Given the description of an element on the screen output the (x, y) to click on. 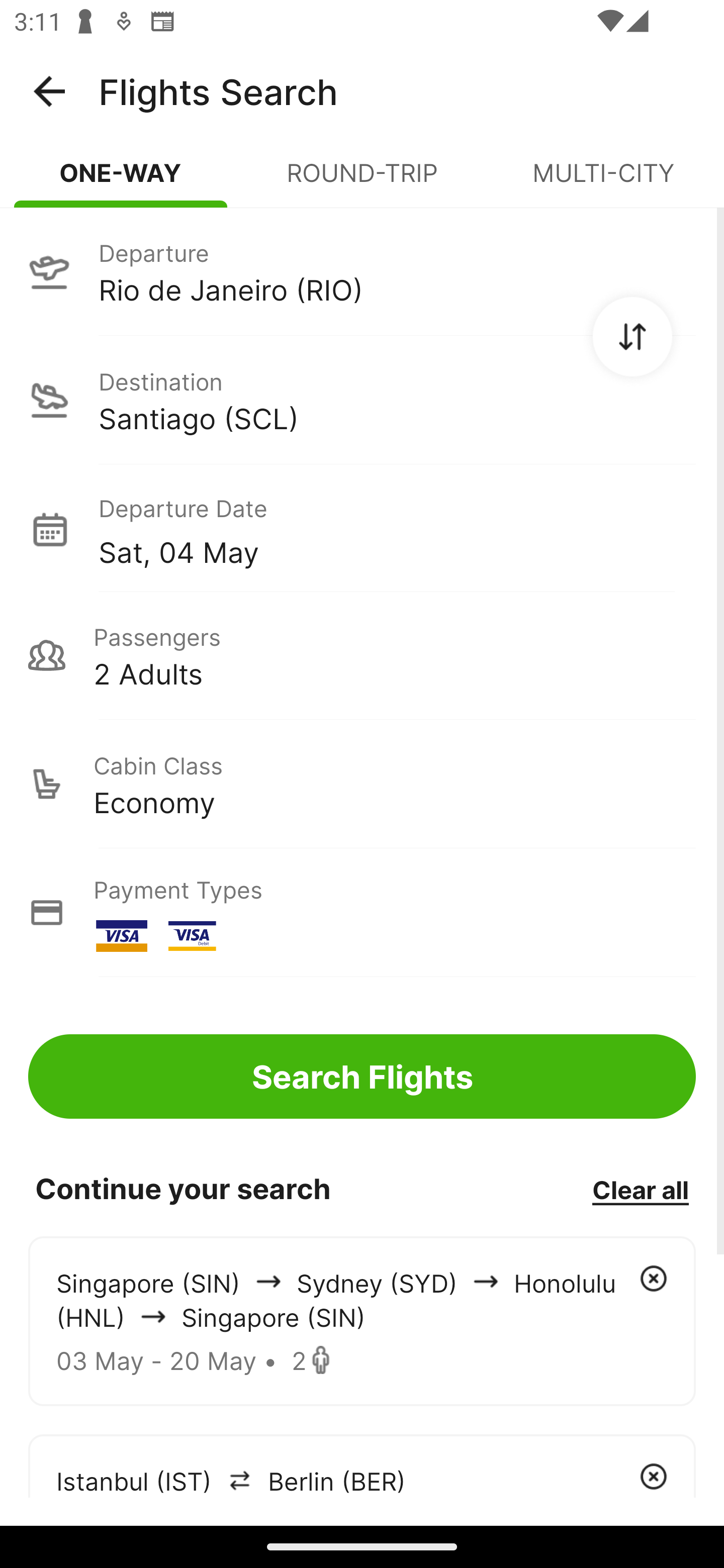
ONE-WAY (120, 180)
ROUND-TRIP (361, 180)
MULTI-CITY (603, 180)
Departure Rio de Janeiro (RIO) (362, 270)
Destination Santiago (SCL) (362, 400)
Departure Date Sat, 04 May (396, 528)
Passengers 2 Adults (362, 655)
Cabin Class Economy (362, 783)
Payment Types (362, 912)
Search Flights (361, 1075)
Clear all (640, 1189)
Istanbul (IST)  arrowIcon  Berlin (BER) (361, 1465)
